Given the description of an element on the screen output the (x, y) to click on. 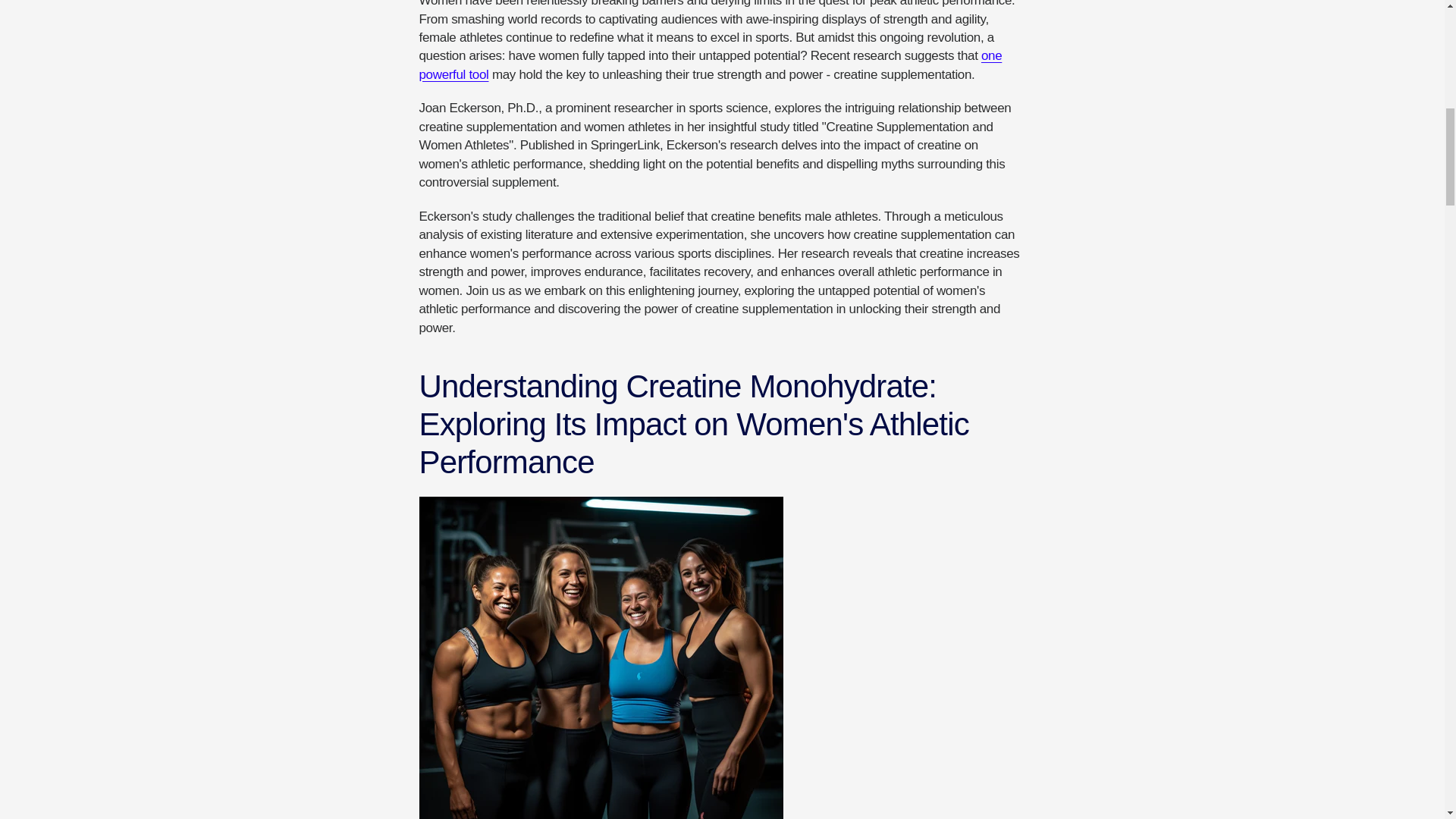
one powerful tool (710, 64)
